Given the description of an element on the screen output the (x, y) to click on. 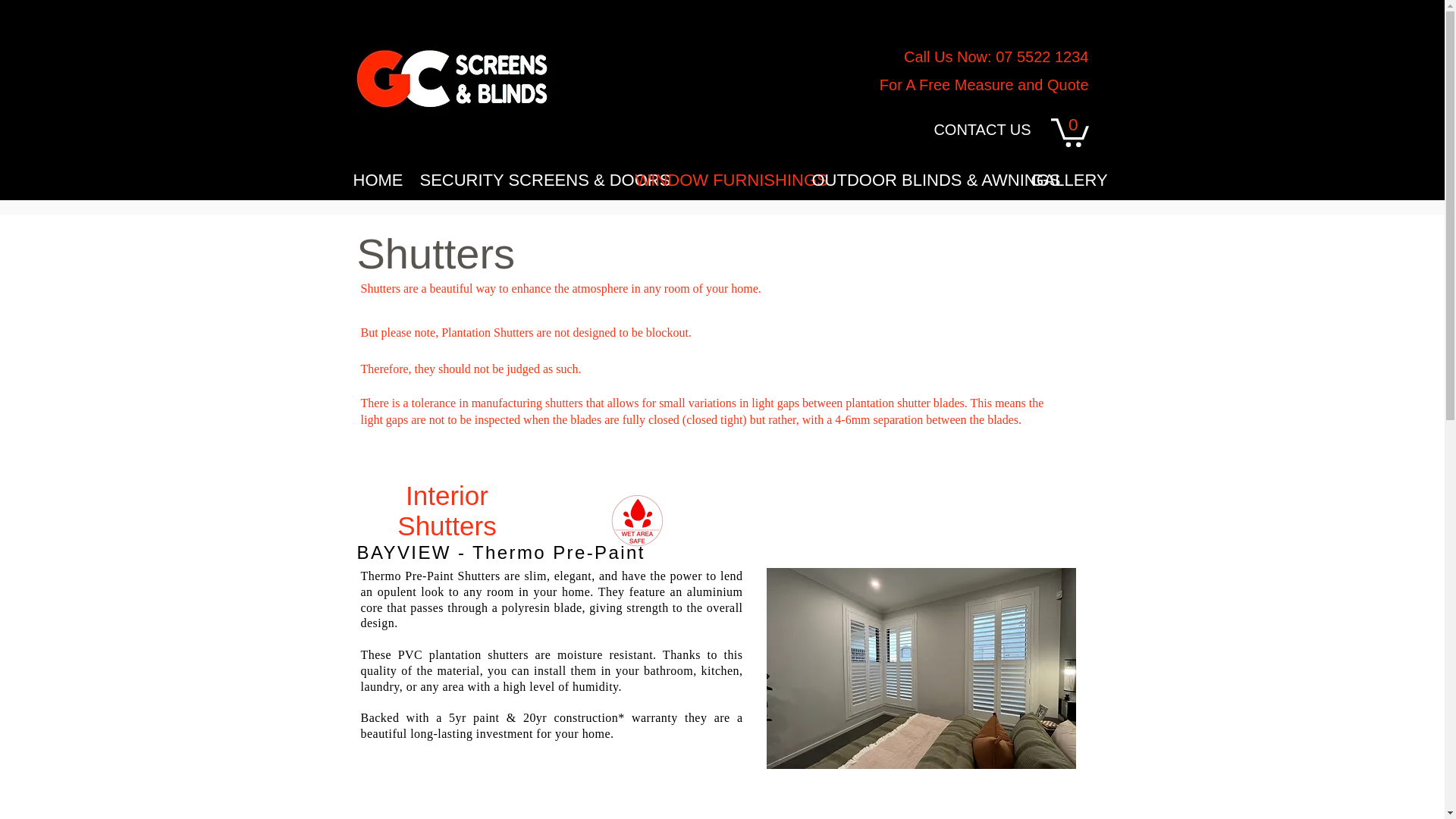
WINDOW FURNISHINGS (711, 179)
HOME (373, 179)
0 (1070, 131)
CONTACT US (981, 129)
0 (1070, 131)
For A Free Measure and Quote (984, 84)
WETAREASAFEICON.png (637, 520)
GALLERY (1060, 179)
Call Us Now: 07 5522 1234 (995, 56)
